Given the description of an element on the screen output the (x, y) to click on. 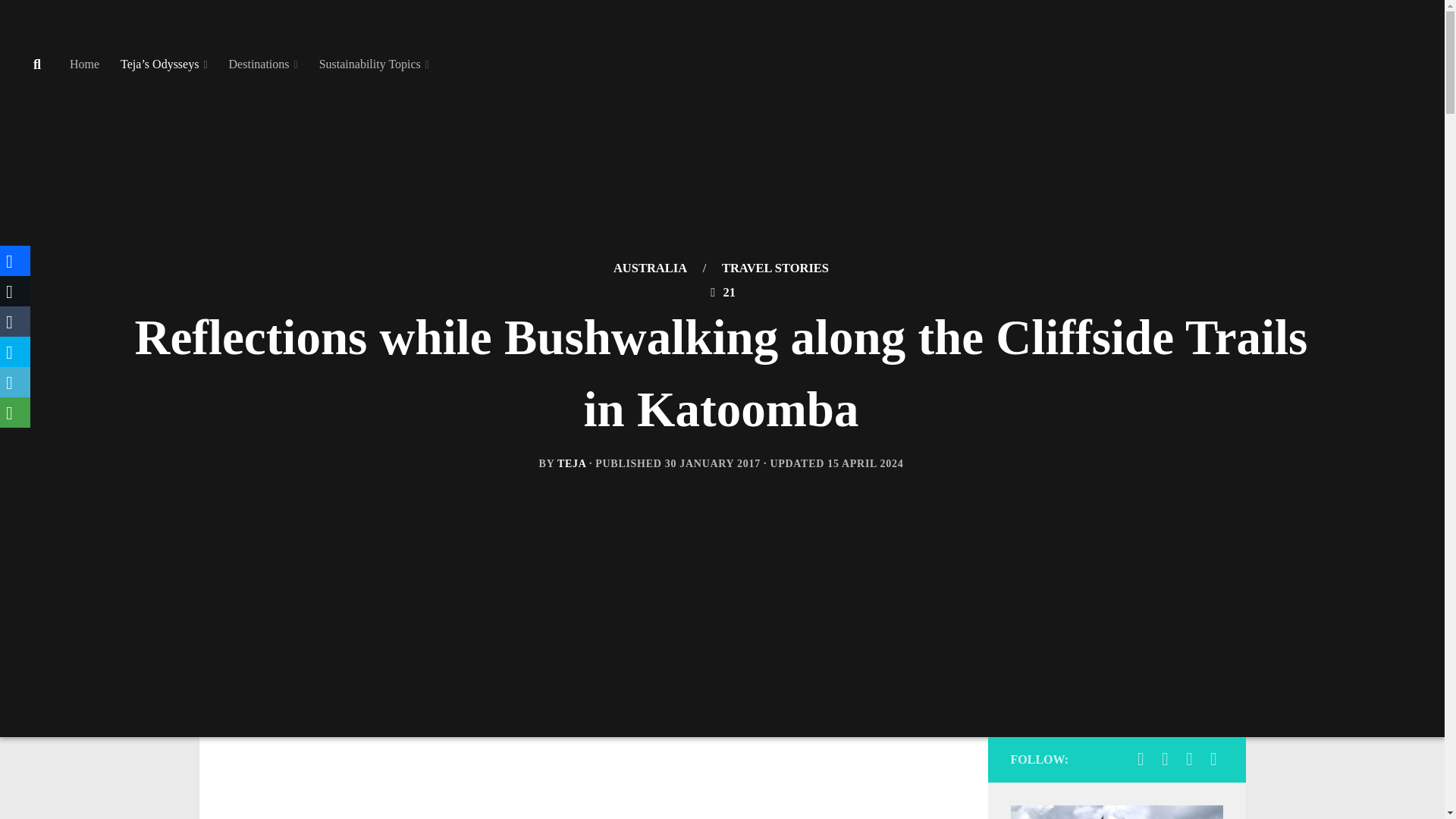
Destinations (263, 64)
Posts by Teja (571, 463)
Follow us on Twitter (1213, 759)
Will You Look Twice? (1164, 759)
Below content (56, 20)
Join the Horizon (1140, 759)
Come to the Horizon (1188, 759)
Home (84, 64)
